Given the description of an element on the screen output the (x, y) to click on. 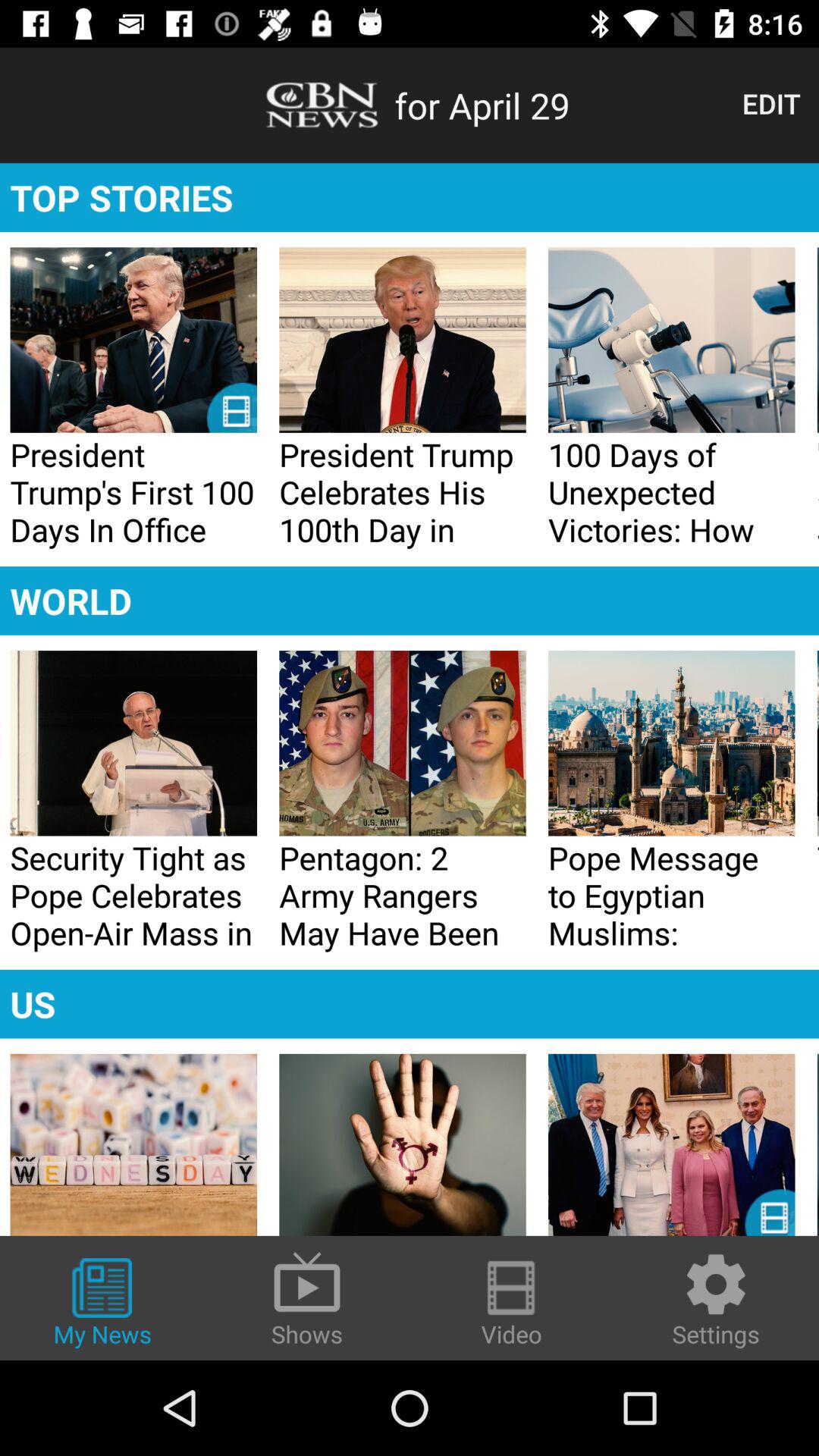
launch icon next to shows (102, 1304)
